Given the description of an element on the screen output the (x, y) to click on. 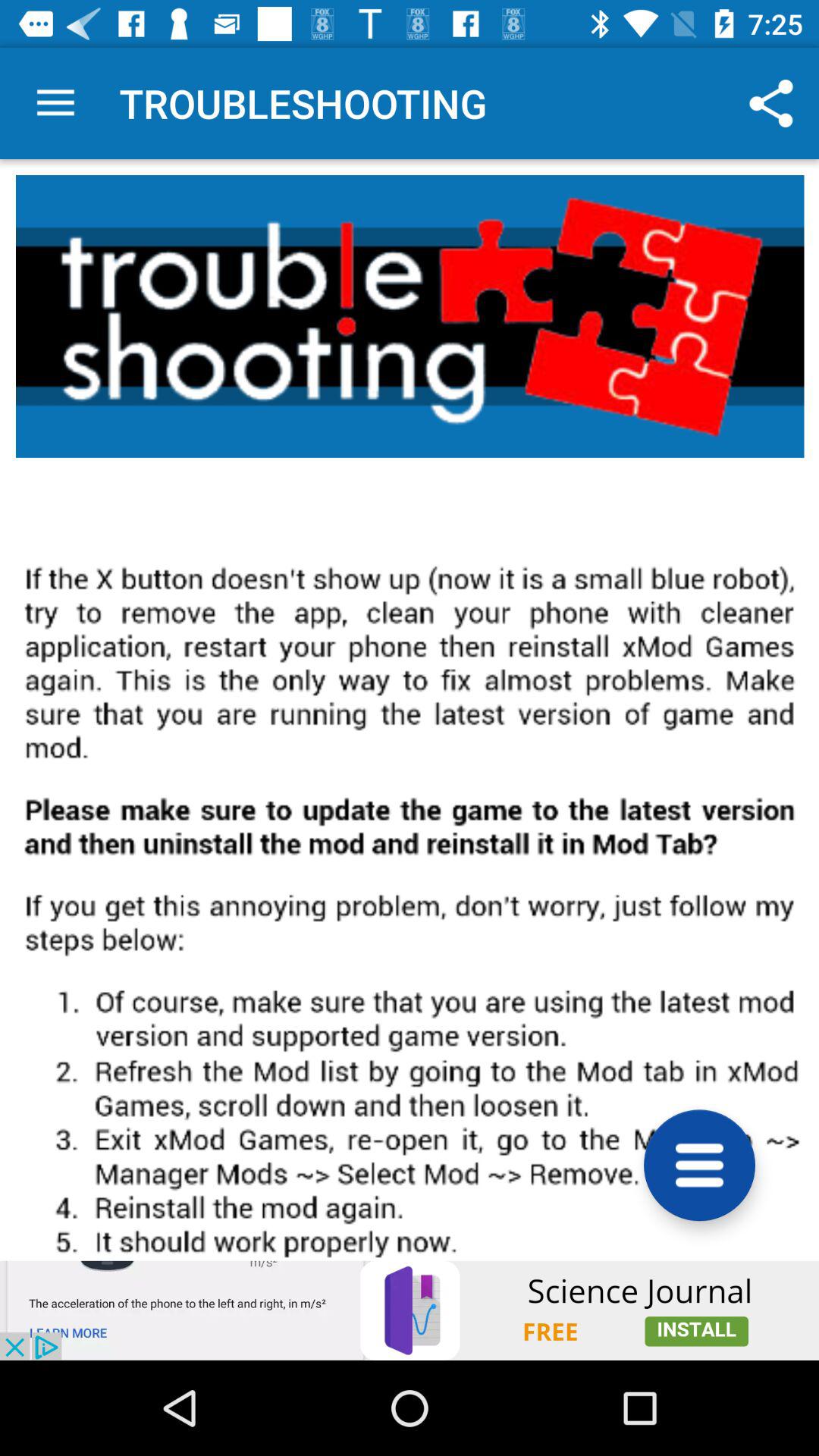
navigation menu (699, 1165)
